Given the description of an element on the screen output the (x, y) to click on. 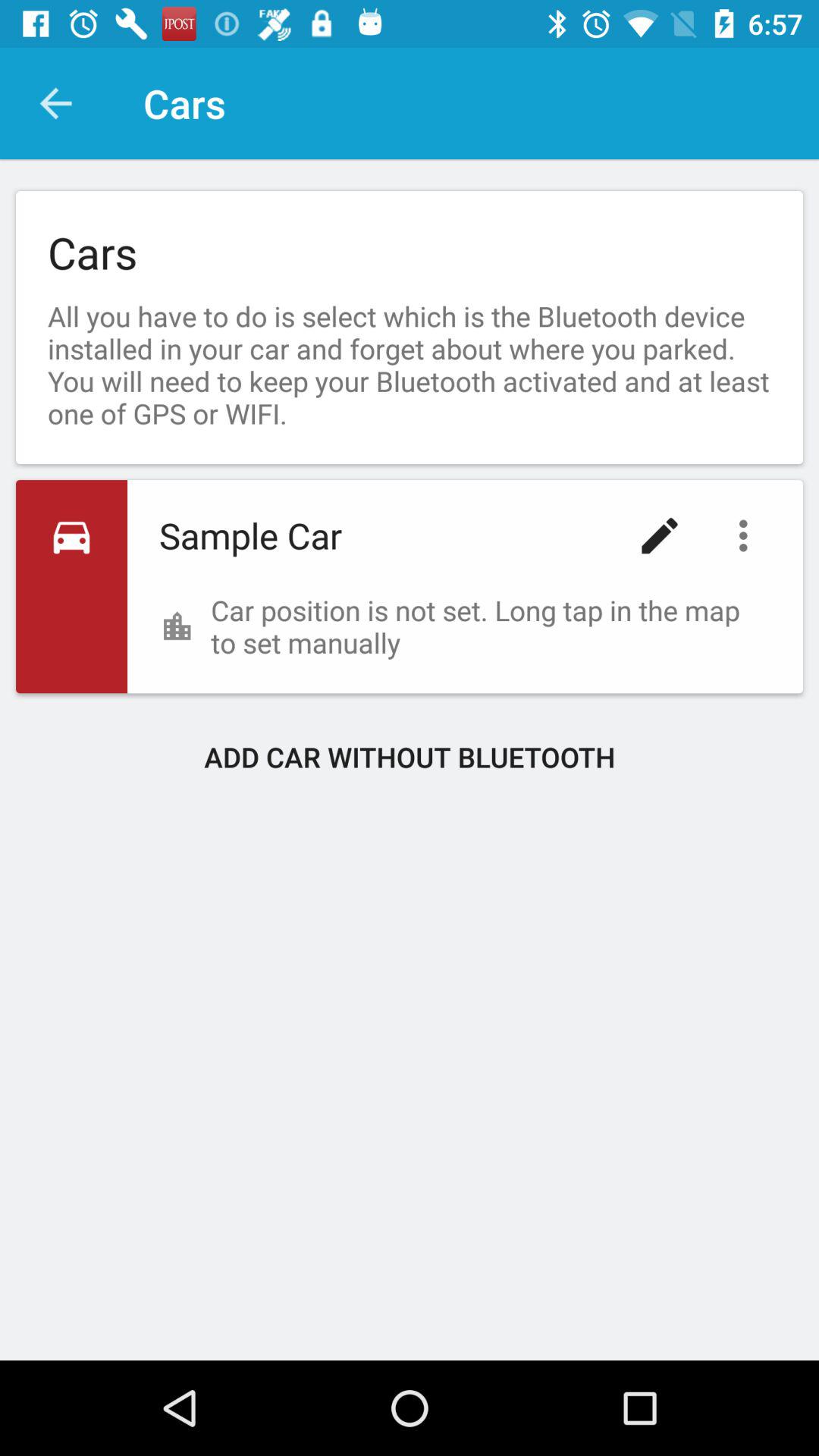
turn on icon below all you have (747, 535)
